Given the description of an element on the screen output the (x, y) to click on. 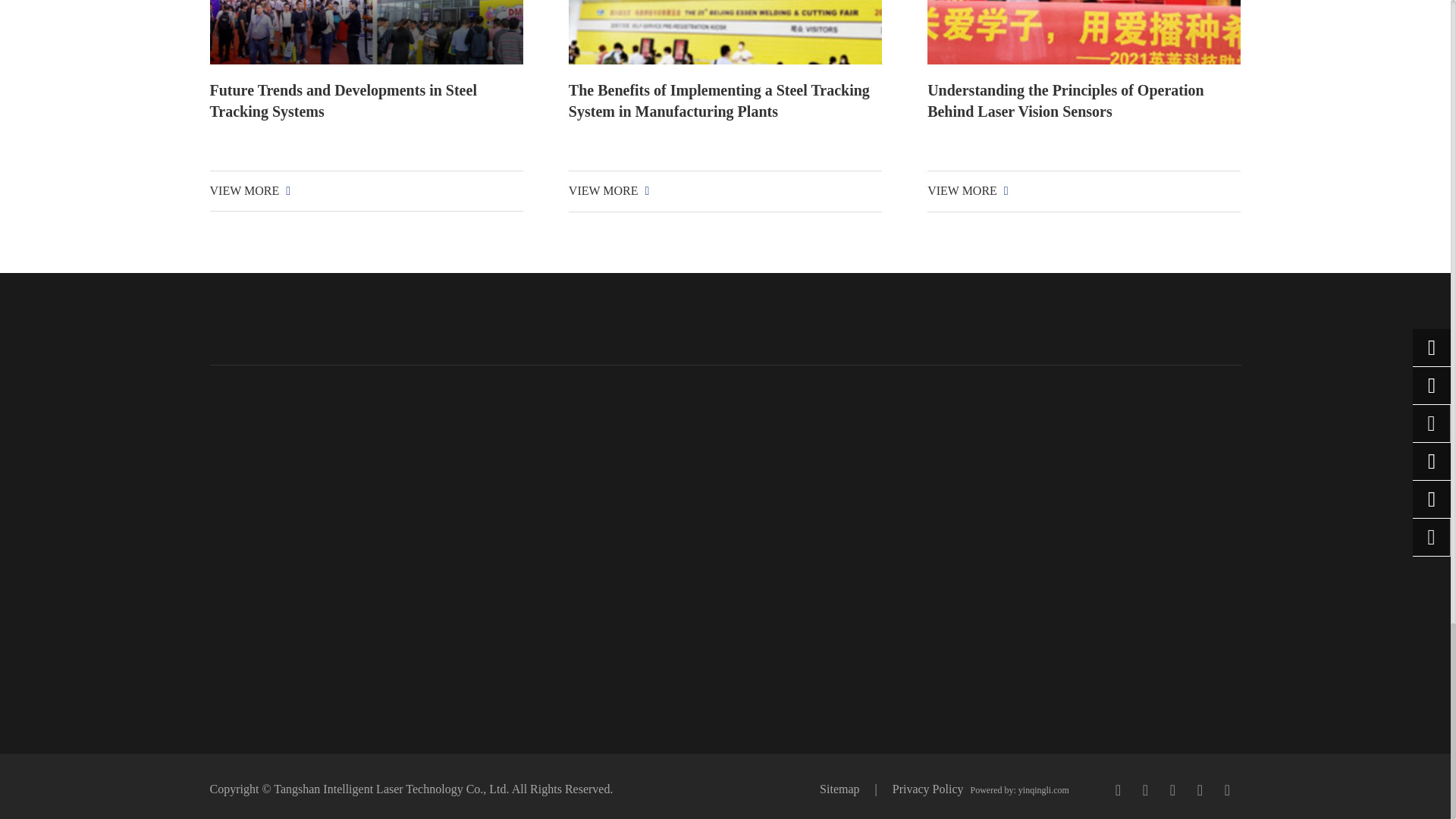
Future Trends and Developments in Steel Tracking Systems (365, 31)
